Given the description of an element on the screen output the (x, y) to click on. 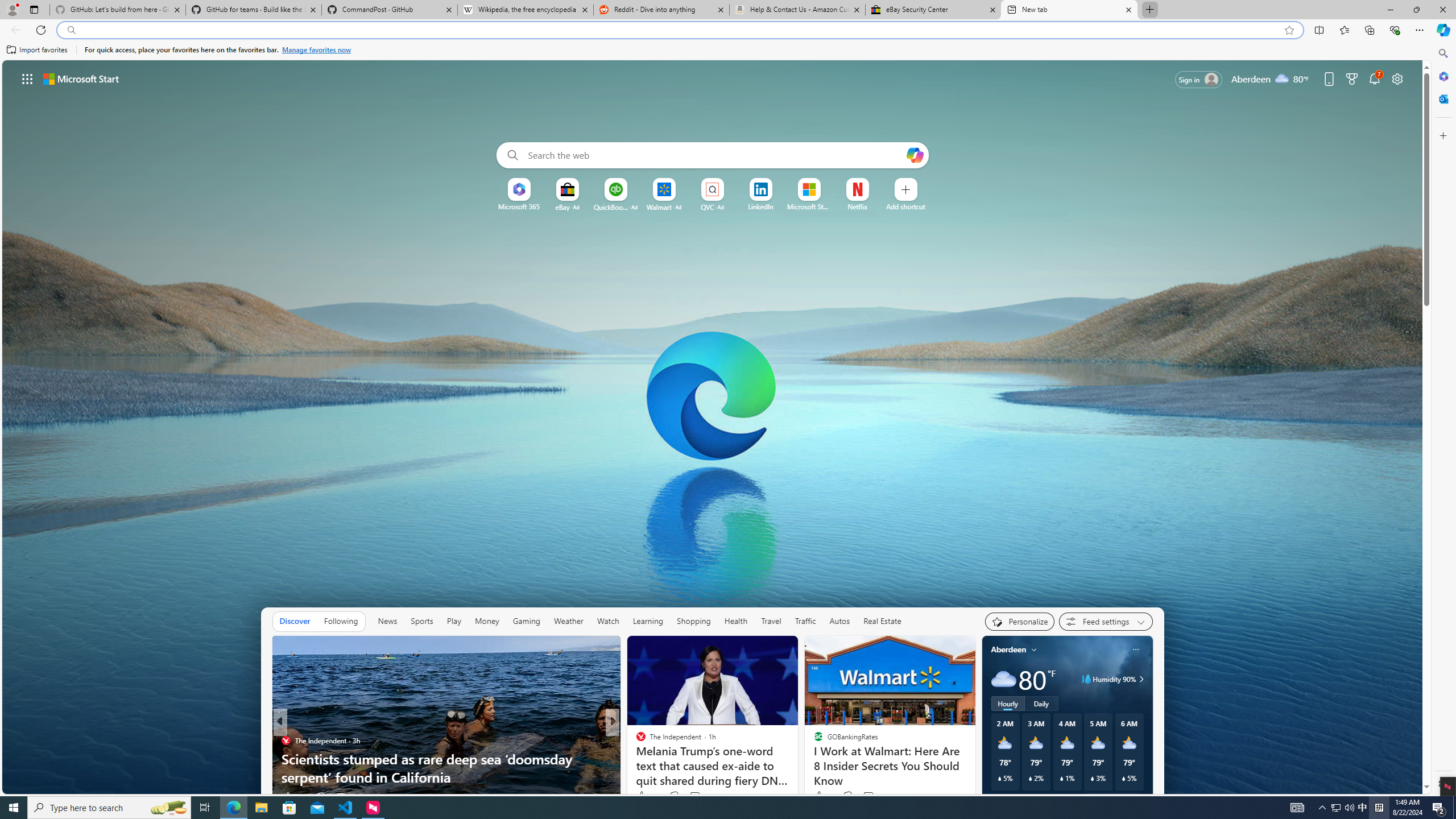
View comments 237 Comment (698, 796)
View comments 31 Comment (691, 797)
Humidity 90% (1139, 678)
Daily Meal (635, 740)
CBS News (635, 740)
View comments 11 Comment (691, 797)
View comments 54 Comment (691, 797)
